Given the description of an element on the screen output the (x, y) to click on. 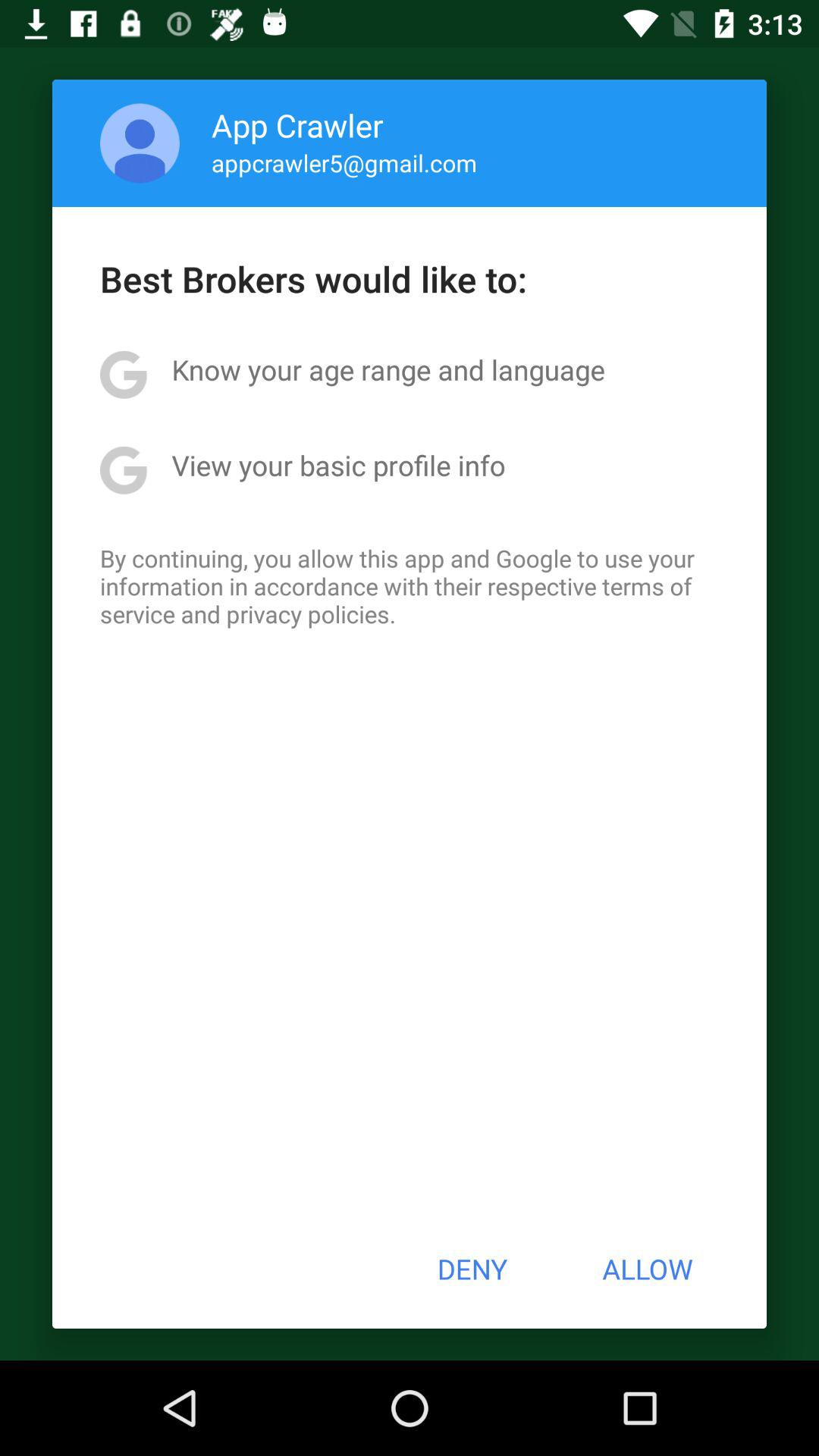
swipe until the deny icon (471, 1268)
